Given the description of an element on the screen output the (x, y) to click on. 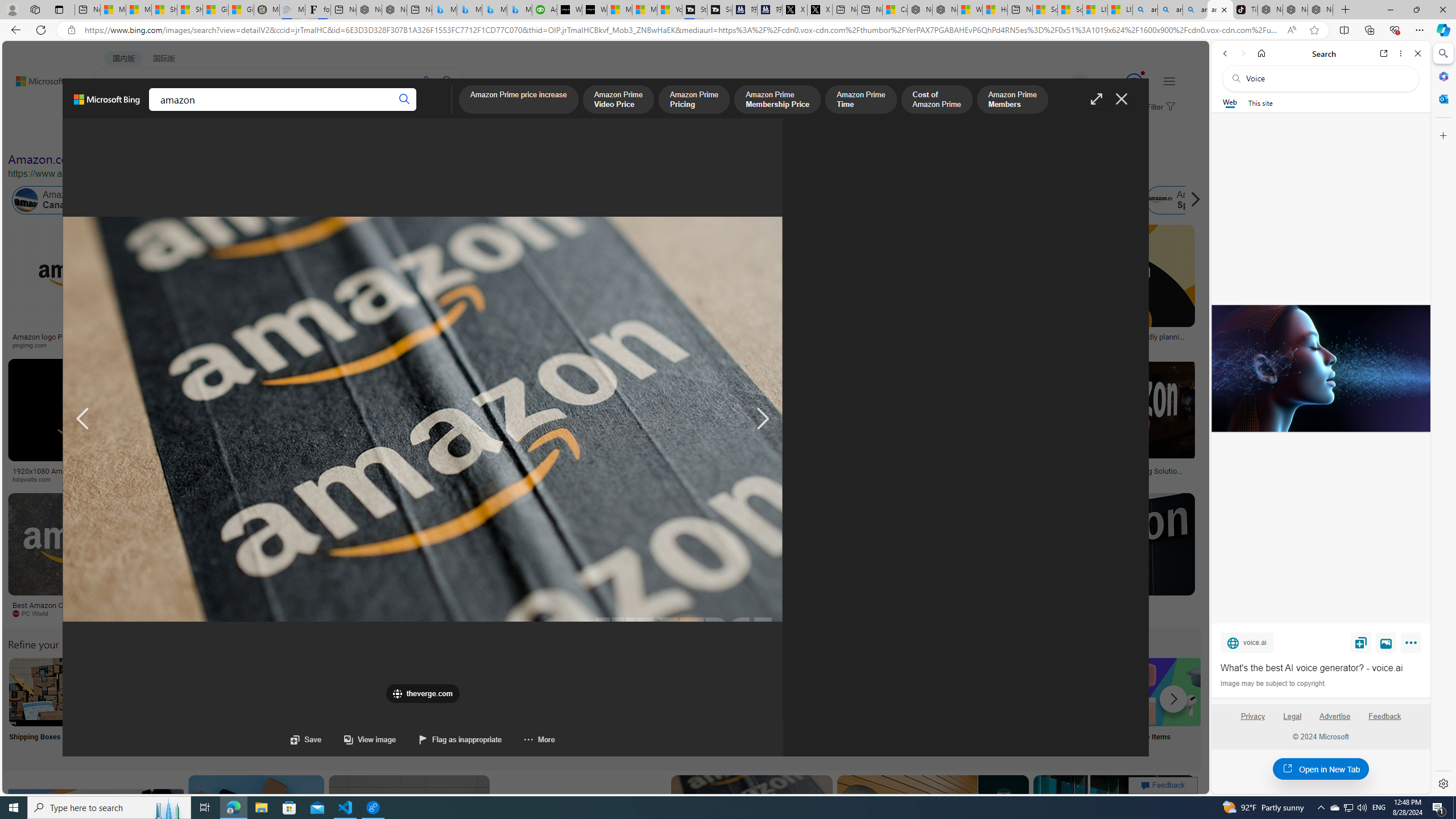
Amazon Prime Membership (753, 200)
How Much Is Amazon's Net Worth? | GOBankingRates (275, 474)
Amazon Echo Dot 4th Gen (673, 264)
pngimg.com (76, 344)
Manatee Mortality Statistics | FWC (265, 9)
protothema.gr (1105, 613)
protothema.gr (1043, 612)
Image size (127, 135)
People (295, 135)
Prime Label (1018, 706)
Amazon Mini TV Mini TV (794, 706)
